Given the description of an element on the screen output the (x, y) to click on. 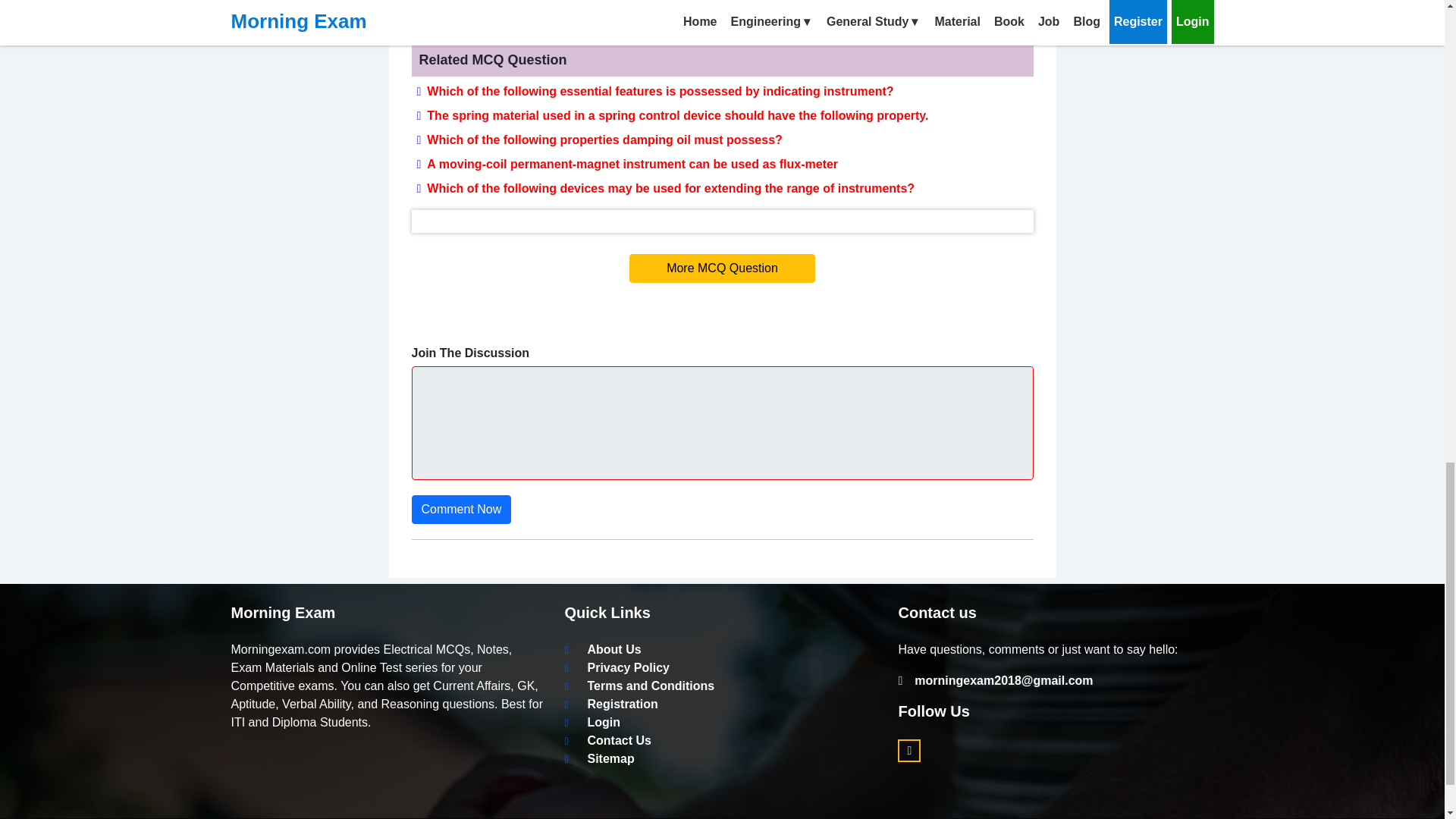
Registration (611, 703)
More MCQ Question (721, 267)
Terms and Conditions (639, 685)
Which of the following properties damping oil must possess? (600, 139)
Comment Now (460, 509)
About Us (602, 649)
Privacy Policy (616, 667)
Contact Us (607, 739)
Login (592, 721)
